Given the description of an element on the screen output the (x, y) to click on. 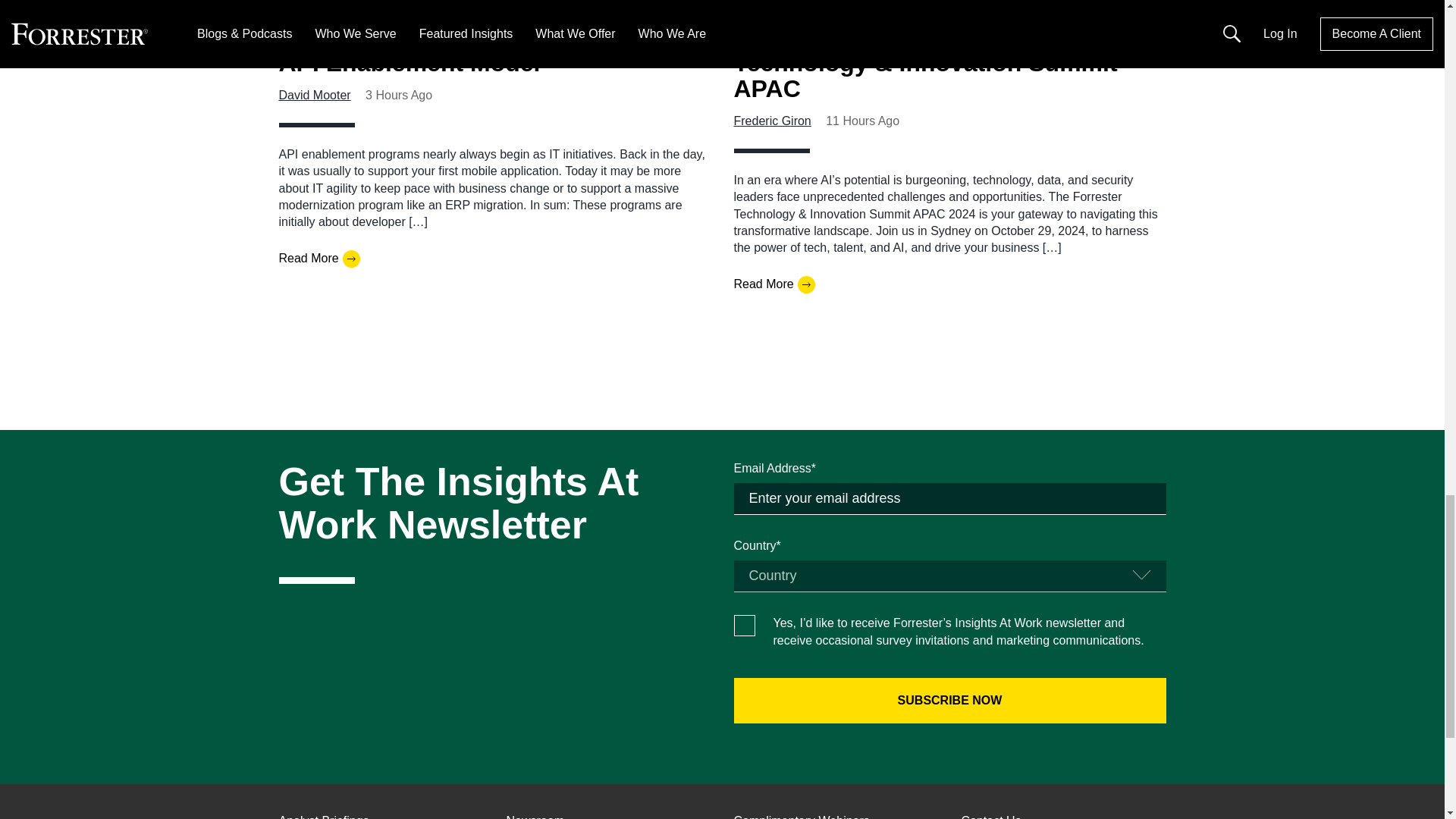
Subscribe Now (949, 700)
David Mooter (314, 94)
Frederic Giron (771, 120)
